Given the description of an element on the screen output the (x, y) to click on. 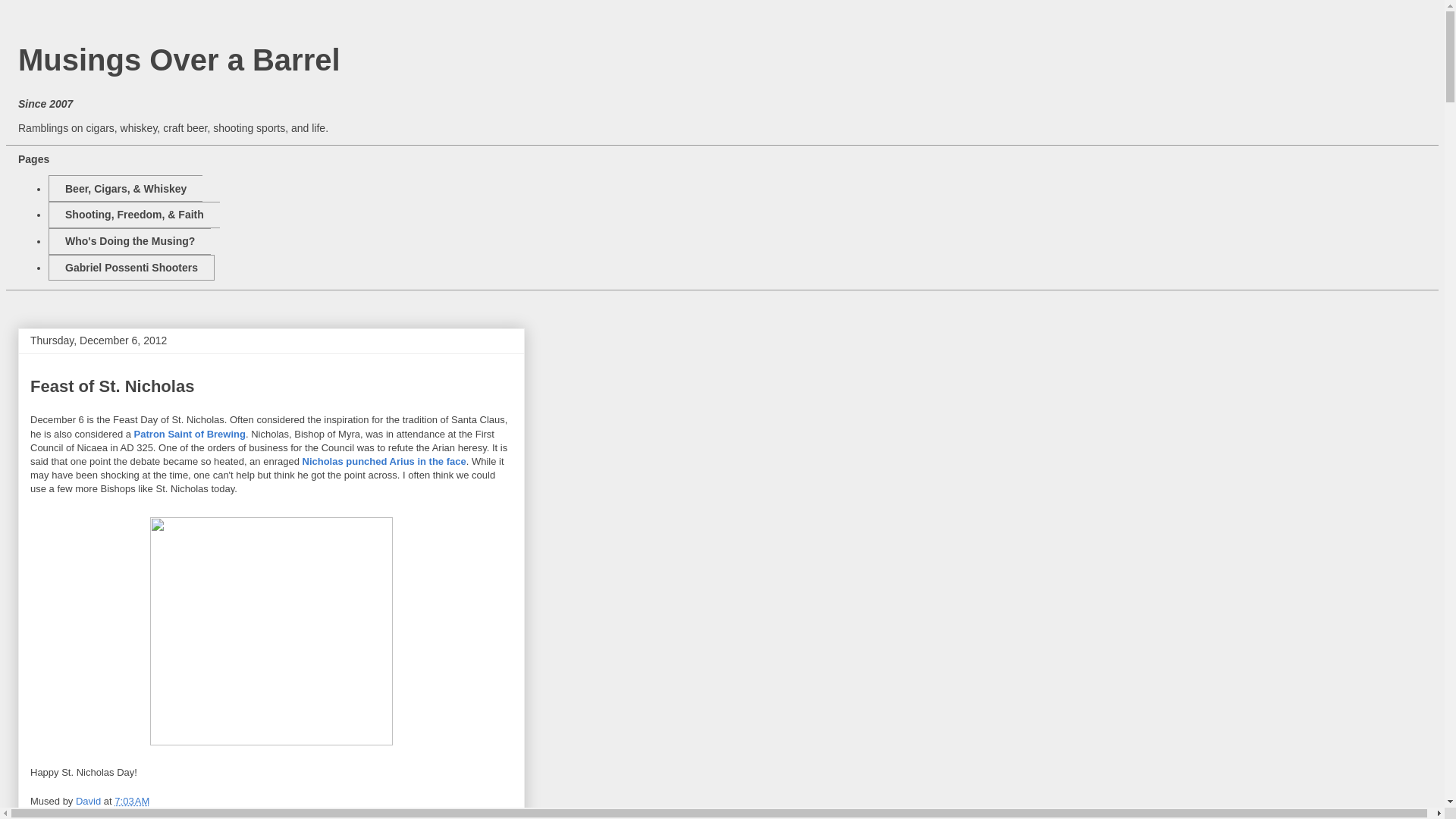
Who's Doing the Musing? (129, 241)
Catholicism (170, 818)
Share to Pinterest (308, 812)
Gabriel Possenti Shooters (131, 267)
Share to Facebook (227, 812)
Share to Twitter (151, 812)
Nicholas punched Arius in the face (383, 460)
Email This (52, 812)
Email Post (158, 800)
Patron Saint of Brewing (189, 433)
Email This (52, 812)
Share to Pinterest (308, 812)
